Given the description of an element on the screen output the (x, y) to click on. 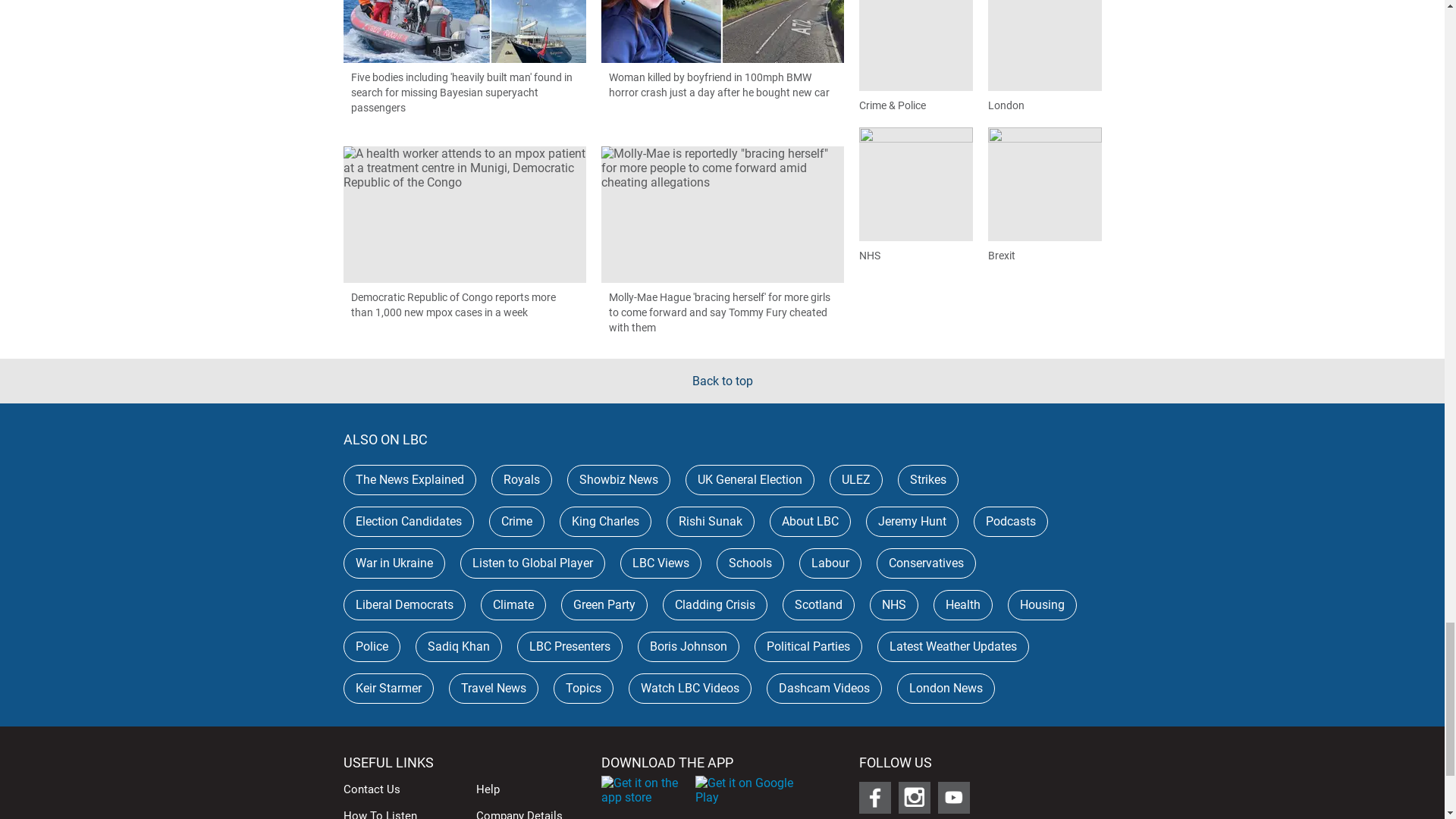
Follow LBC on Youtube (953, 798)
Back to top (721, 380)
Follow LBC on Instagram (914, 798)
Follow LBC on Facebook (874, 798)
